Given the description of an element on the screen output the (x, y) to click on. 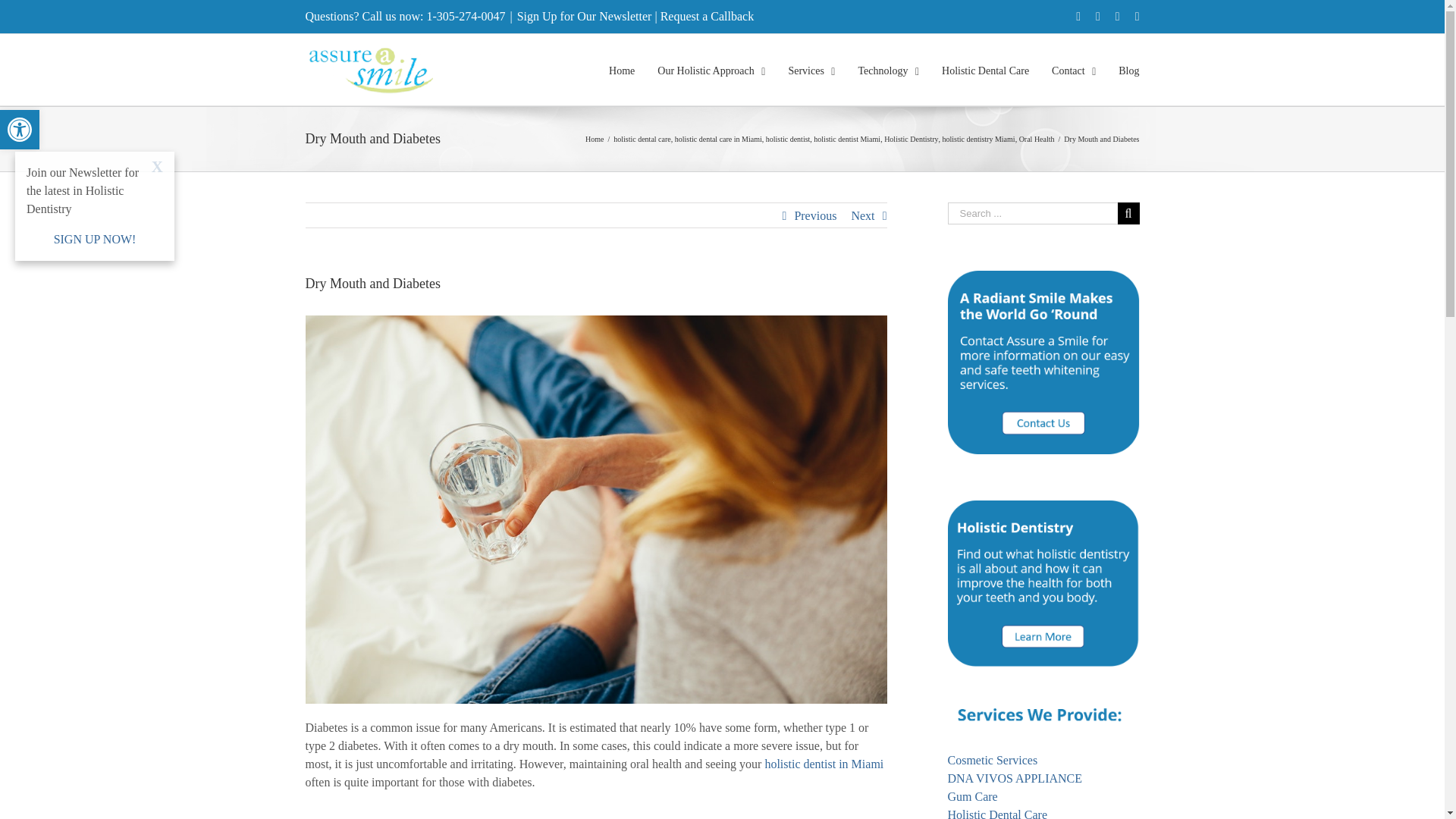
Our Holistic Approach (711, 69)
Accessibility Tools (19, 129)
Accessibility Tools (19, 129)
Request a Callback (19, 129)
1-305-274-0047 (707, 15)
Sign Up for Our Newsletter (465, 15)
